Given the description of an element on the screen output the (x, y) to click on. 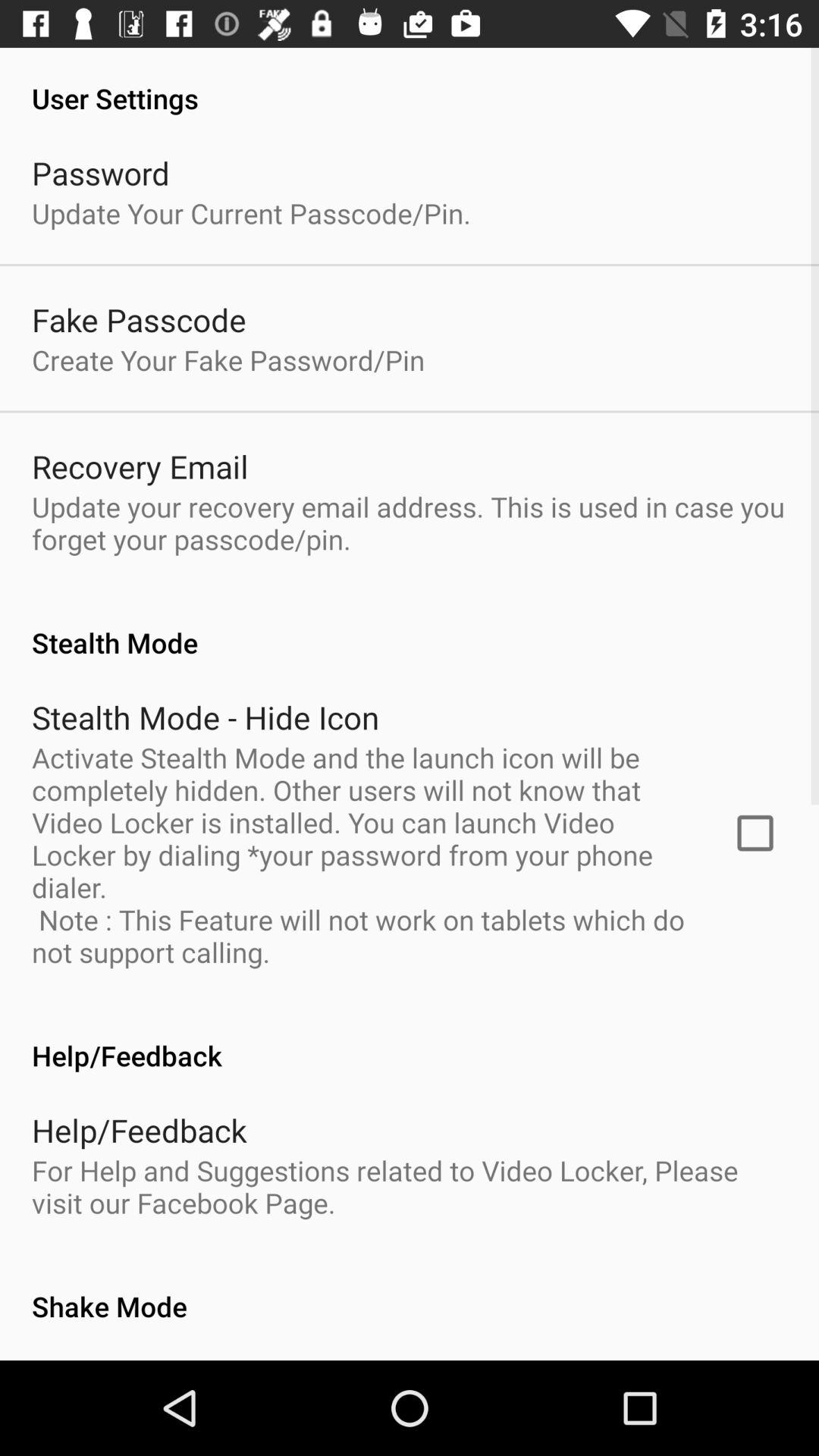
scroll to user settings icon (409, 82)
